Given the description of an element on the screen output the (x, y) to click on. 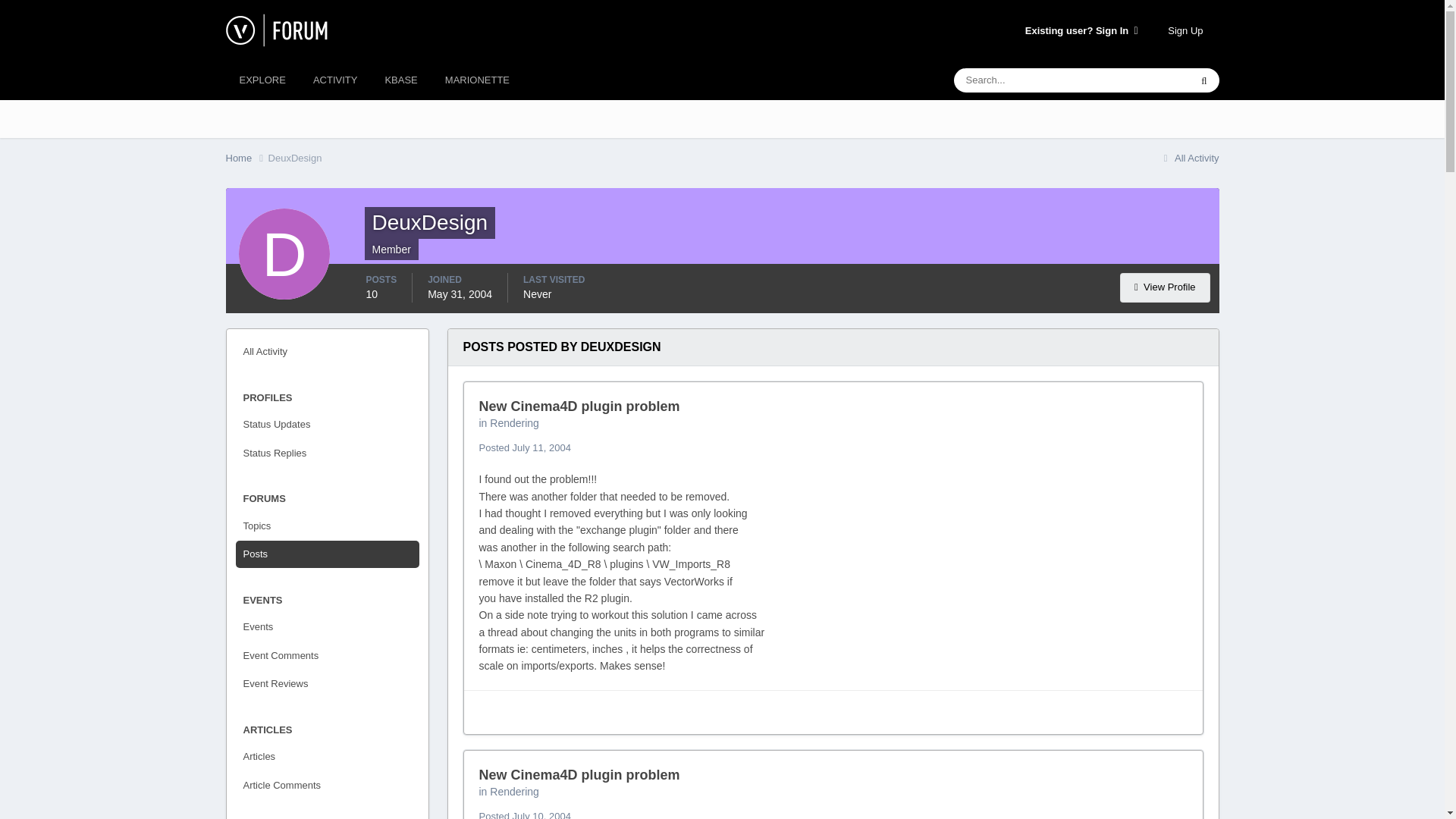
All Activity (1188, 157)
Sign Up (1184, 29)
All Activity (326, 351)
 View Profile (1164, 287)
DeuxDesign (294, 157)
MARIONETTE (476, 79)
Home (246, 158)
Status Updates (326, 424)
KBASE (400, 79)
View the topic New Cinema4D plugin problem (579, 774)
EXPLORE (262, 79)
Status Replies (326, 452)
Existing user? Sign In   (1081, 30)
Home (246, 158)
View the topic New Cinema4D plugin problem (579, 406)
